Given the description of an element on the screen output the (x, y) to click on. 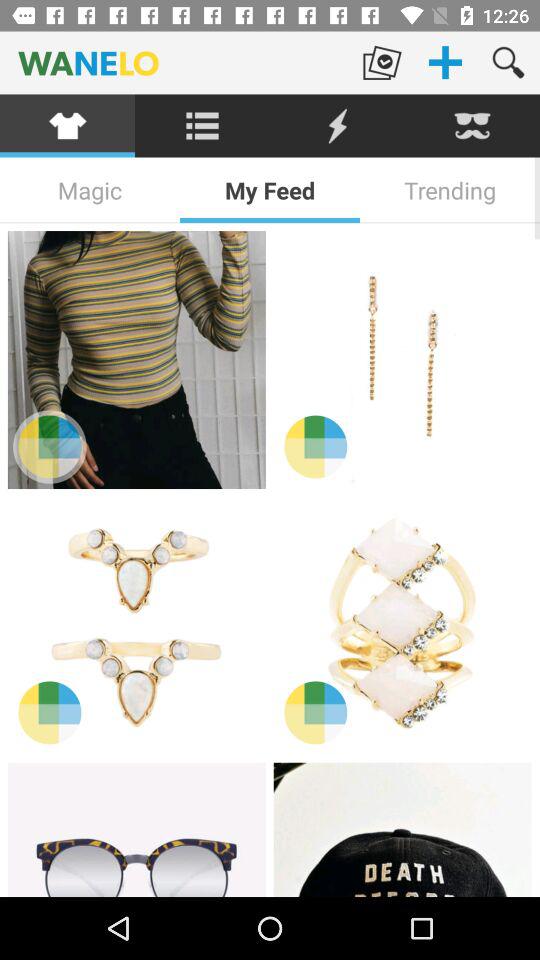
select picture (402, 829)
